Given the description of an element on the screen output the (x, y) to click on. 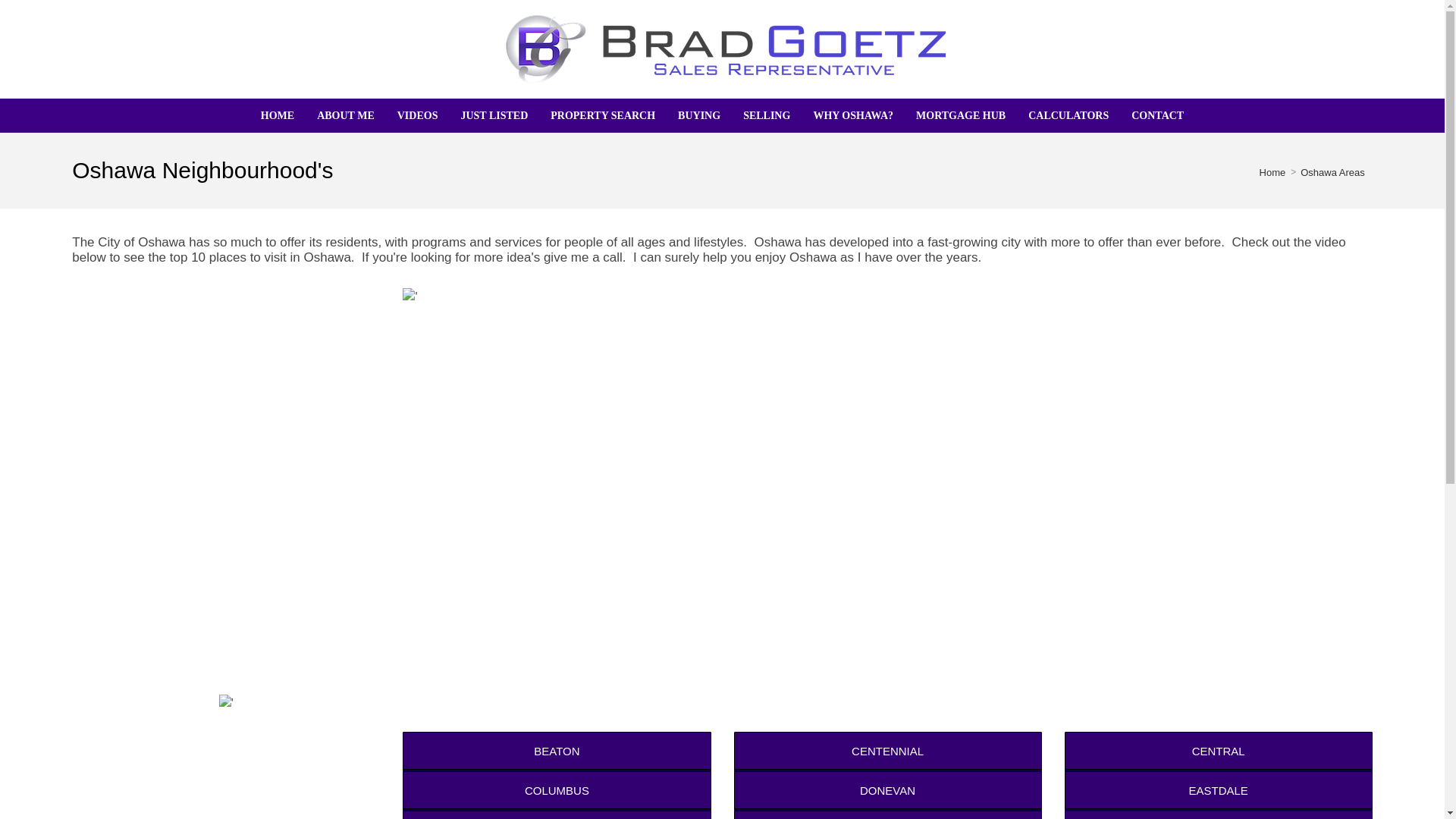
ABOUT ME (345, 115)
Videos (417, 115)
About Me (345, 115)
VIDEOS (417, 115)
Home (276, 115)
PROPERTY SEARCH (602, 115)
Just Listed (493, 115)
Buying (699, 115)
WHY OSHAWA? (853, 115)
Property Search (602, 115)
JUST LISTED (493, 115)
HOME (276, 115)
SELLING (767, 115)
BUYING (699, 115)
MORTGAGE HUB (960, 115)
